Given the description of an element on the screen output the (x, y) to click on. 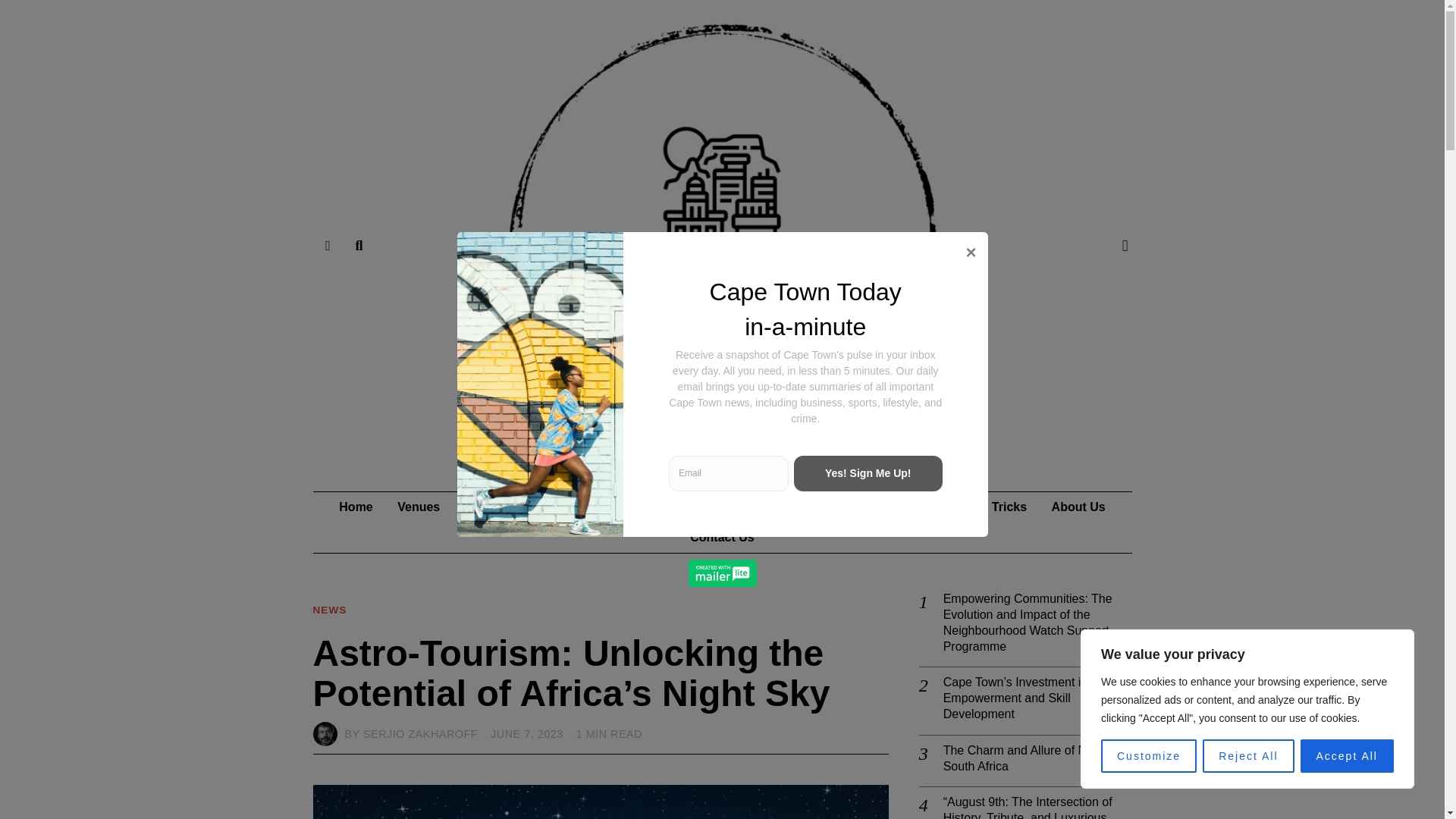
Customize (1148, 756)
Venues (418, 507)
Accept All (1346, 756)
Home (355, 507)
Crime (835, 507)
Sports (540, 507)
SERJIO ZAKHAROFF (419, 734)
Events (774, 507)
Reject All (1248, 756)
Technology (696, 507)
Lifestyle (901, 507)
About Us (1078, 507)
NEWS (329, 610)
News (480, 507)
Business (610, 507)
